Given the description of an element on the screen output the (x, y) to click on. 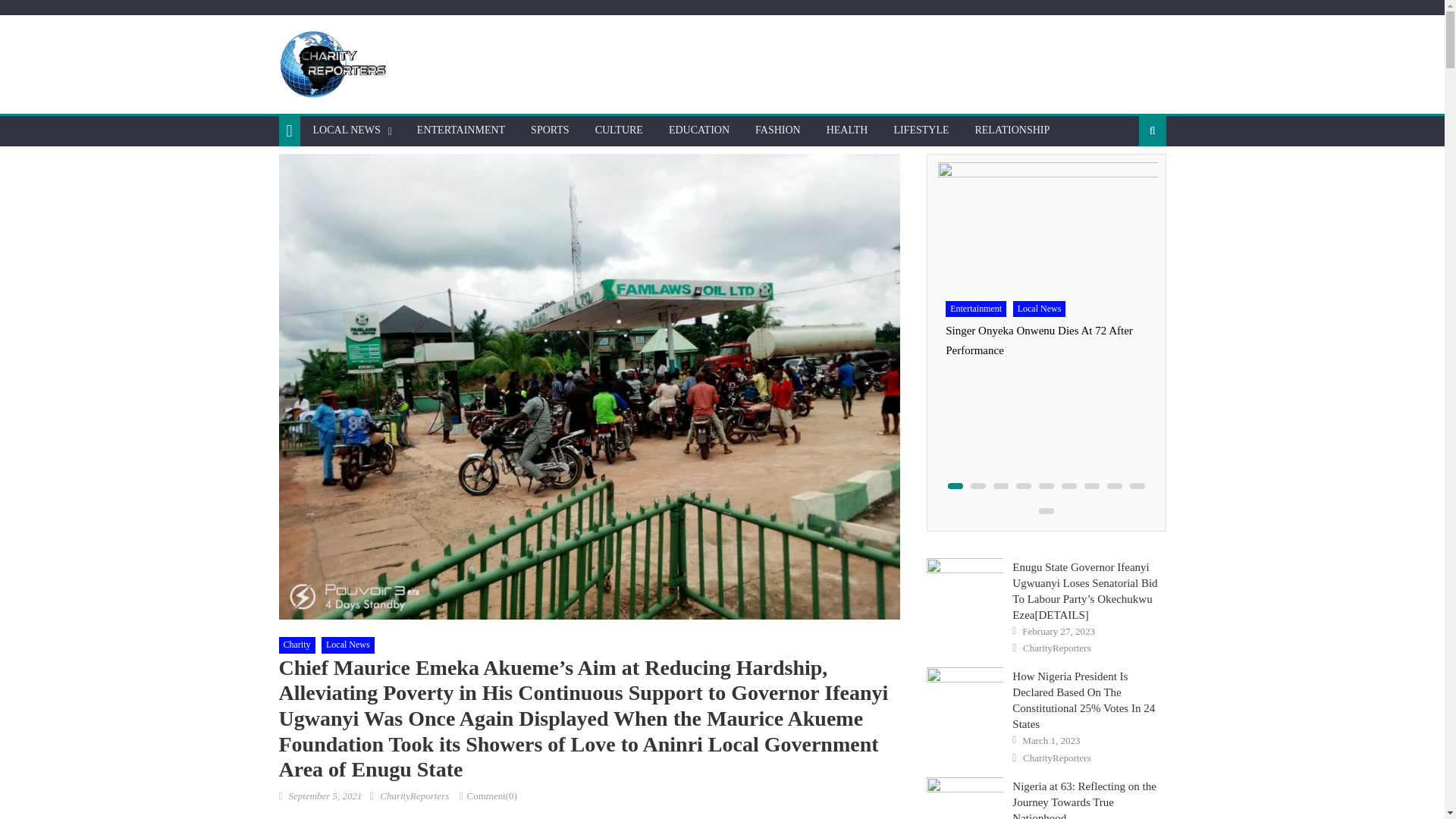
Search (1128, 180)
HEALTH (847, 130)
ENTERTAINMENT (461, 130)
SPORTS (549, 130)
FASHION (778, 130)
EDUCATION (699, 130)
Local News (347, 645)
CULTURE (618, 130)
RELATIONSHIP (1011, 130)
Charity (297, 645)
CharityReporters (414, 795)
September 5, 2021 (324, 795)
LOCAL NEWS (346, 130)
LIFESTYLE (920, 130)
